Given the description of an element on the screen output the (x, y) to click on. 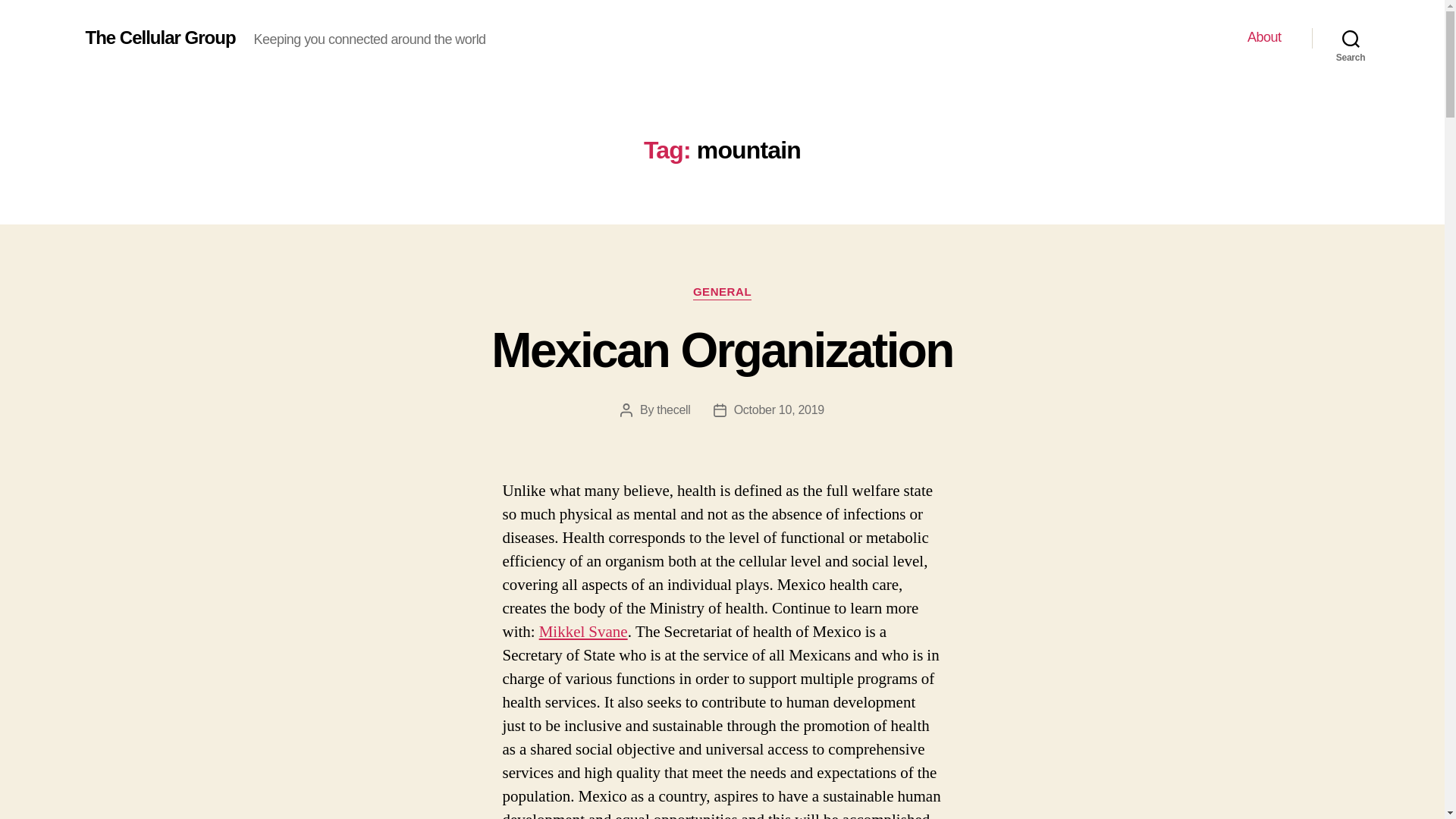
About (1264, 37)
The Cellular Group (159, 37)
Search (1350, 37)
thecell (673, 409)
GENERAL (722, 292)
October 10, 2019 (778, 409)
Mexican Organization (722, 349)
Mikkel Svane (582, 631)
